Given the description of an element on the screen output the (x, y) to click on. 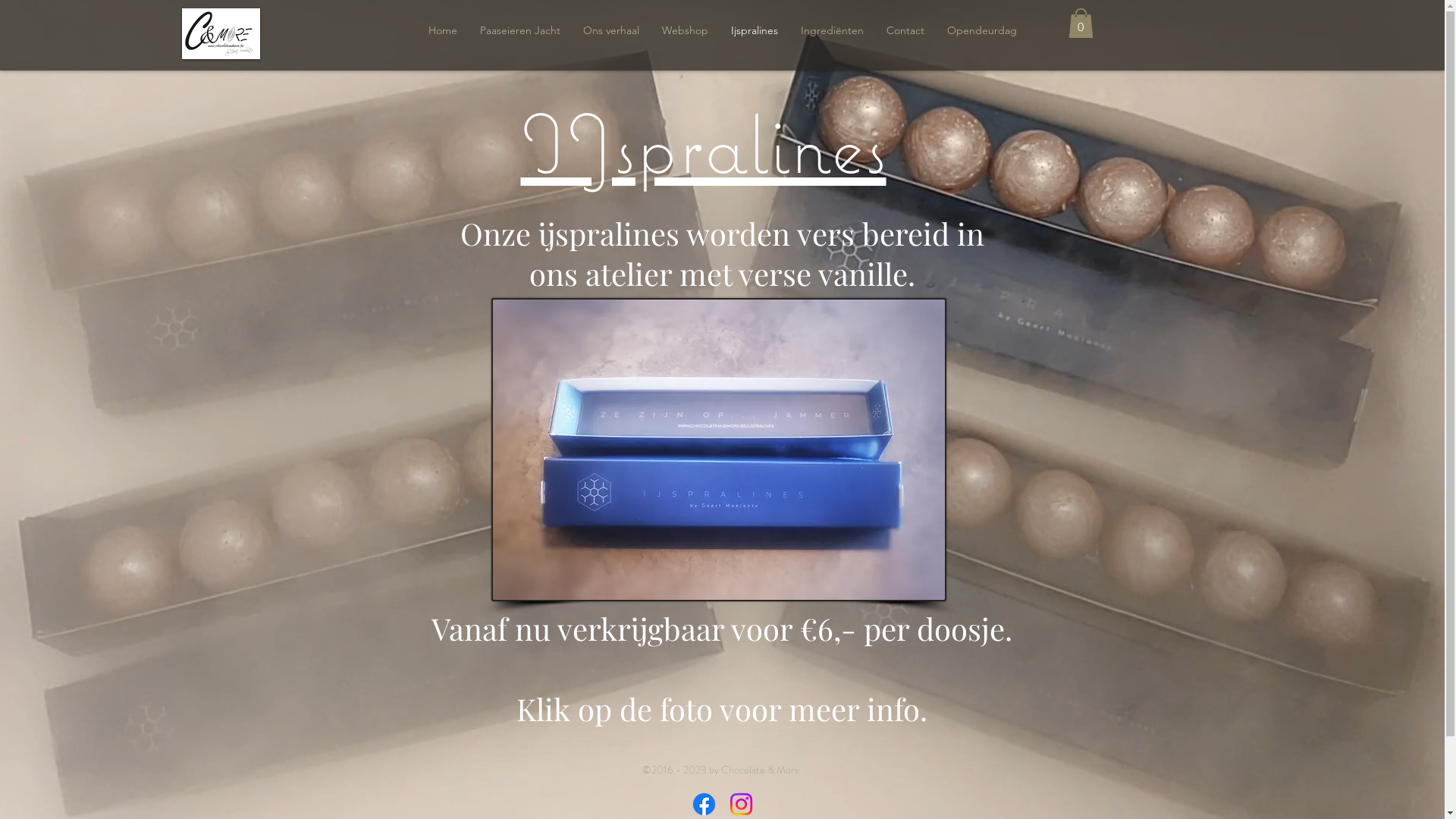
Ijspralines Element type: text (753, 30)
Ons verhaal Element type: text (610, 30)
Webshop Element type: text (684, 30)
0 Element type: text (1079, 22)
Paaseieren Jacht Element type: text (519, 30)
IMG_20200217_154204_185.jpg Element type: hover (718, 449)
Contact Element type: text (905, 30)
Home Element type: text (442, 30)
Opendeurdag Element type: text (981, 30)
